Given the description of an element on the screen output the (x, y) to click on. 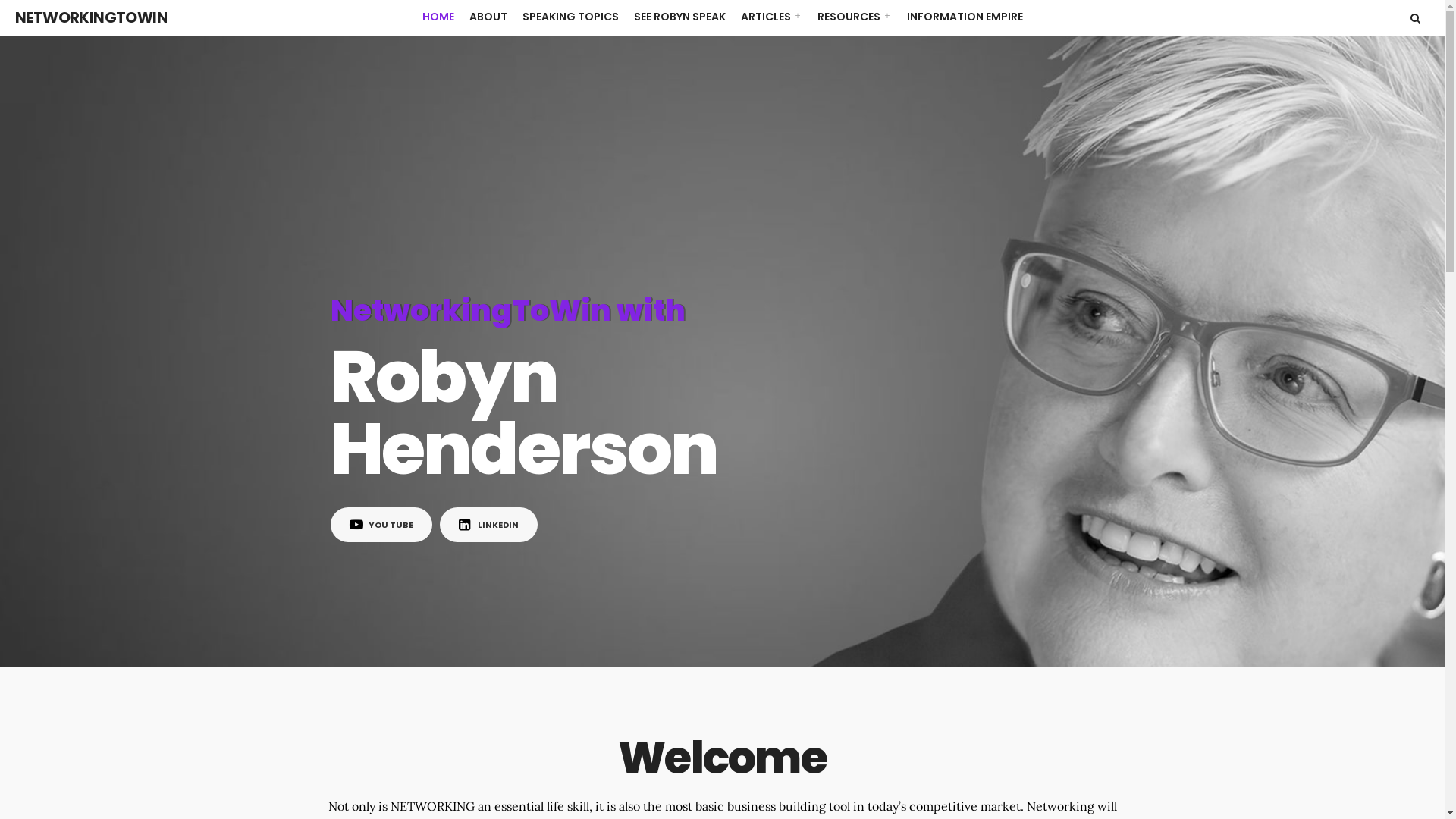
INFORMATION EMPIRE Element type: text (964, 17)
ARTICLES Element type: text (770, 17)
HOME Element type: text (437, 17)
SEE ROBYN SPEAK Element type: text (679, 17)
YOU TUBE Element type: text (381, 524)
LINKEDIN Element type: text (488, 524)
ABOUT Element type: text (487, 17)
NETWORKINGTOWIN Element type: text (91, 17)
RESOURCES Element type: text (854, 17)
SPEAKING TOPICS Element type: text (569, 17)
